Given the description of an element on the screen output the (x, y) to click on. 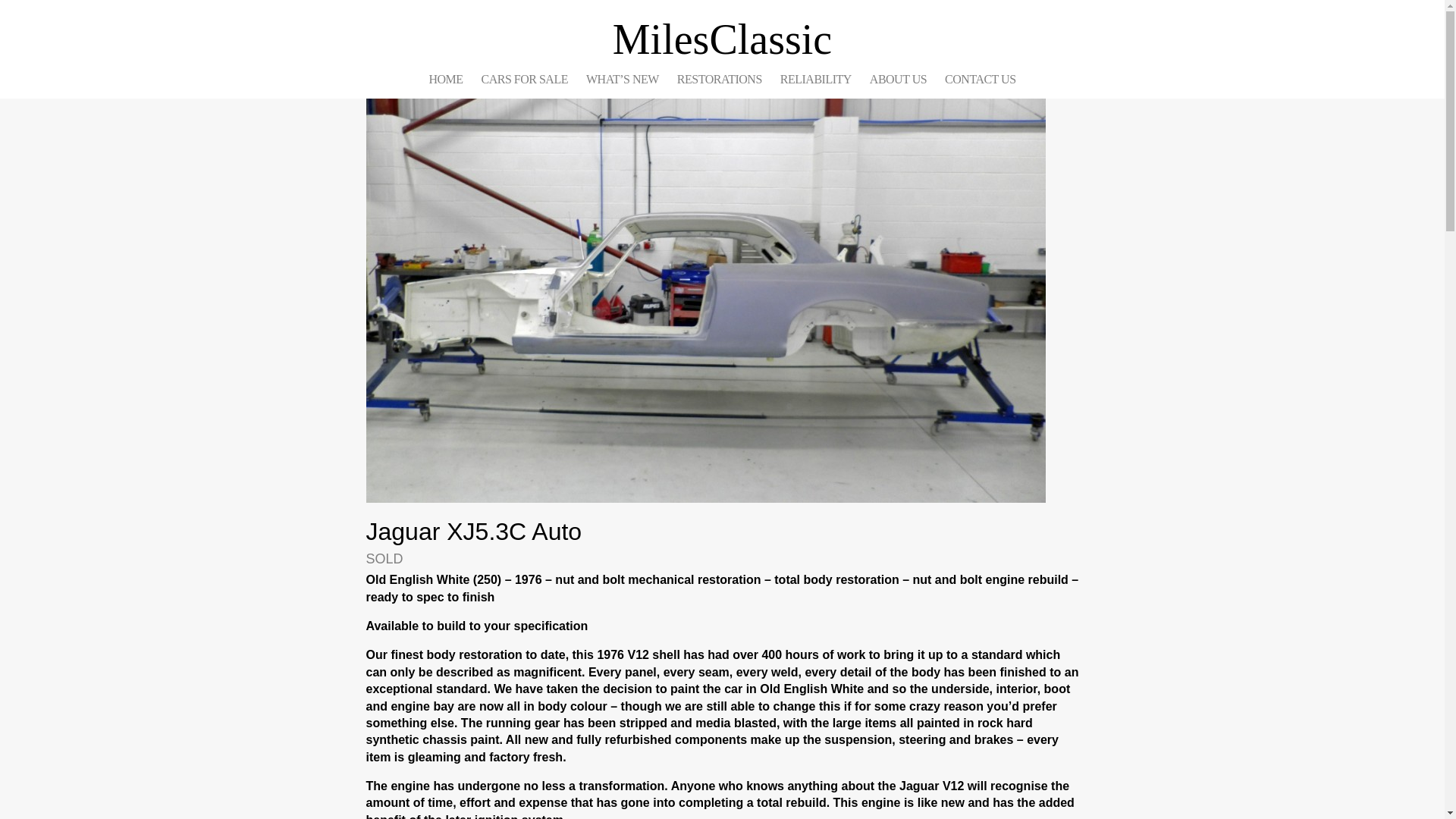
MilesClassic (721, 39)
RELIABILITY (815, 78)
CONTACT US (979, 78)
ABOUT US (897, 78)
CARS FOR SALE (524, 78)
RESTORATIONS (719, 78)
HOME (445, 78)
